Given the description of an element on the screen output the (x, y) to click on. 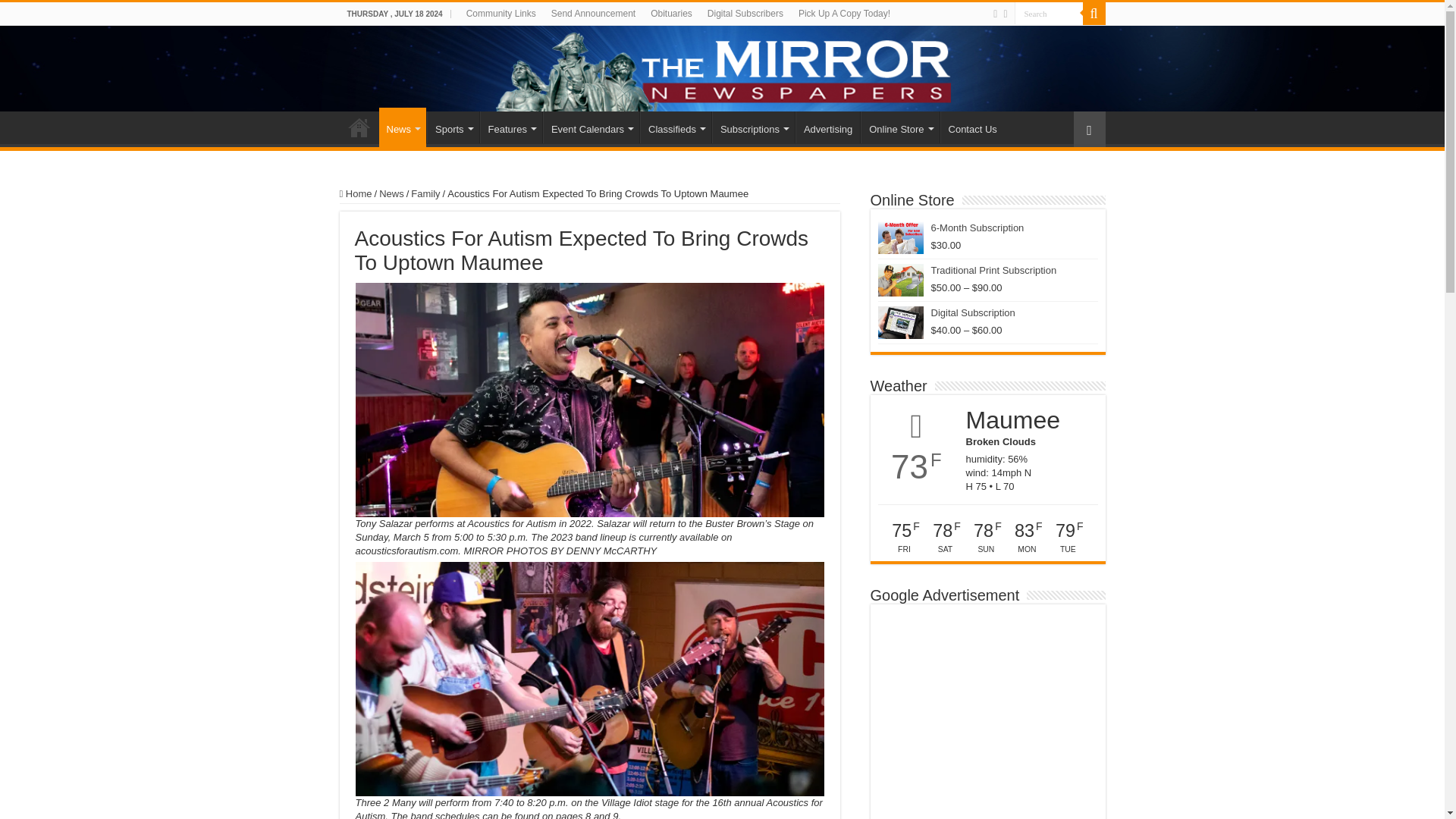
Search (1048, 13)
The Mirror Newspapers (722, 68)
Facebook (994, 13)
Search (1048, 13)
Advertisement (986, 715)
Youtube (1005, 13)
Search (1048, 13)
